Given the description of an element on the screen output the (x, y) to click on. 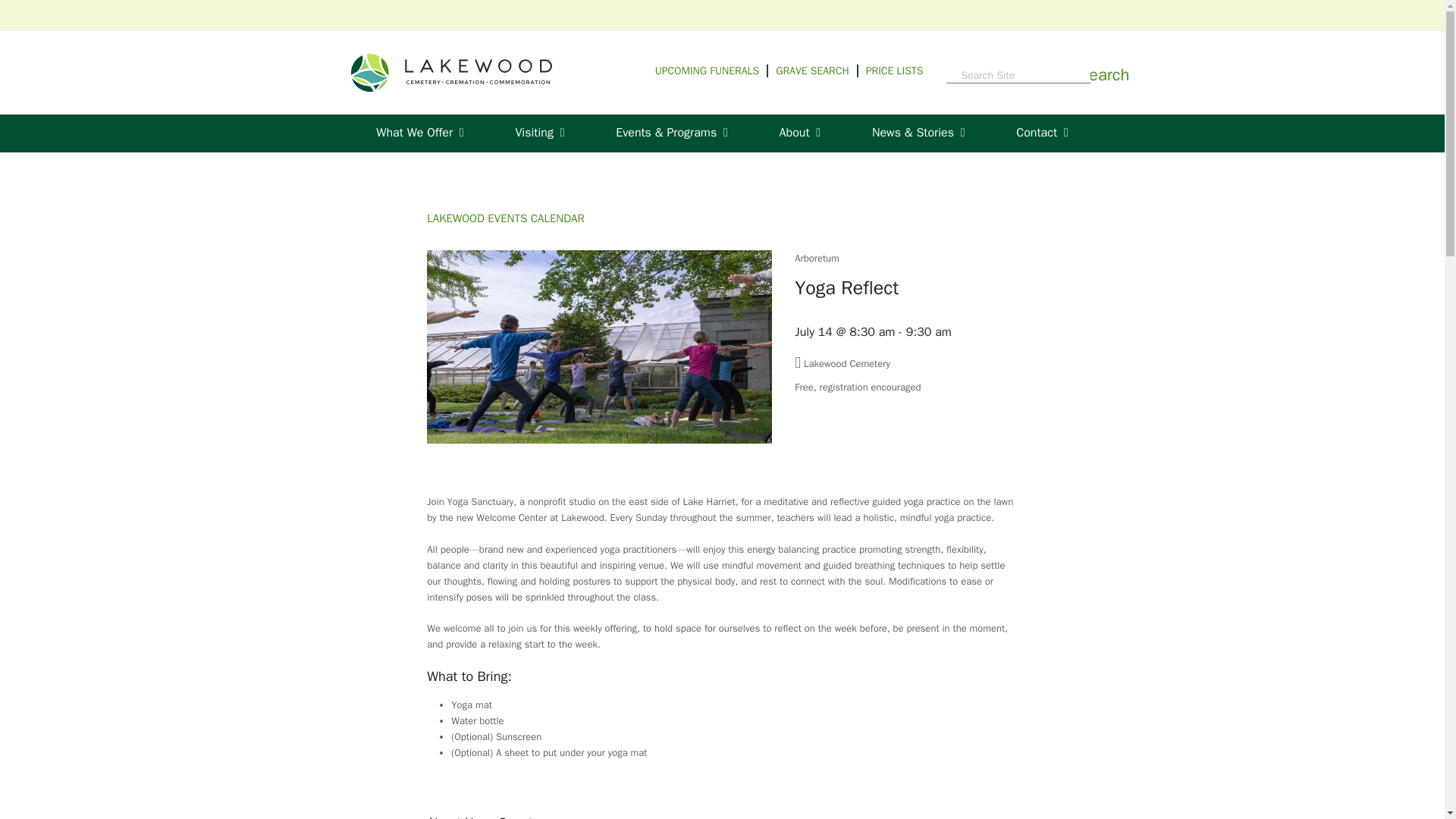
PRICE LISTS (894, 70)
Visiting (540, 133)
What We Offer (419, 133)
UPCOMING FUNERALS (711, 70)
About (799, 133)
GRAVE SEARCH (817, 70)
